Given the description of an element on the screen output the (x, y) to click on. 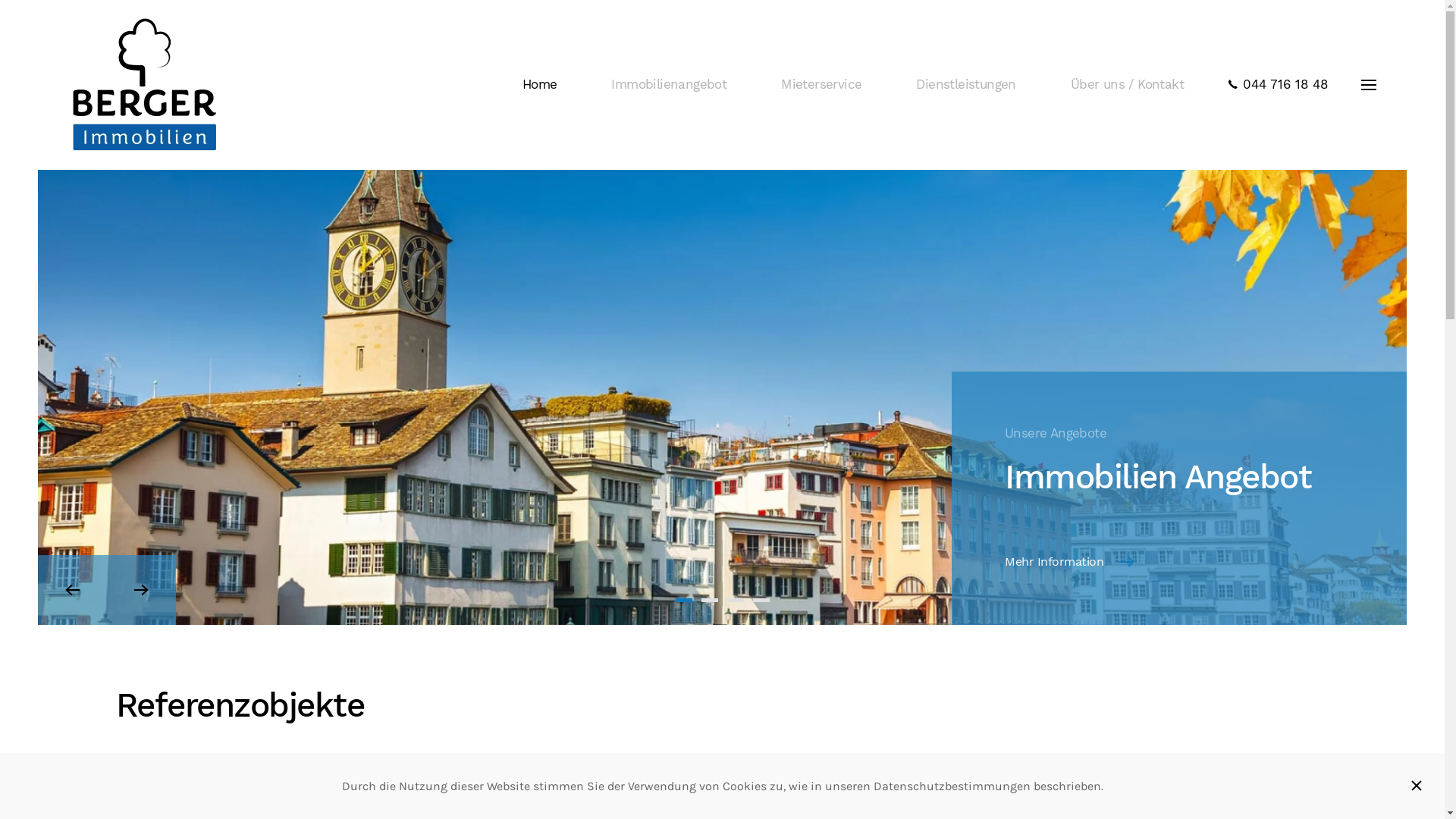
Dienstleistungen Element type: text (965, 84)
Immobilien Angebot Element type: text (682, 600)
Dienstleistungen Element type: text (734, 600)
Mehr Information Element type: text (1071, 561)
044 716 18 48 Element type: text (1277, 84)
Home Element type: text (539, 84)
Mieterservice Element type: text (821, 84)
Immobilienangebot Element type: text (668, 84)
Mieterservice Element type: text (708, 600)
